Given the description of an element on the screen output the (x, y) to click on. 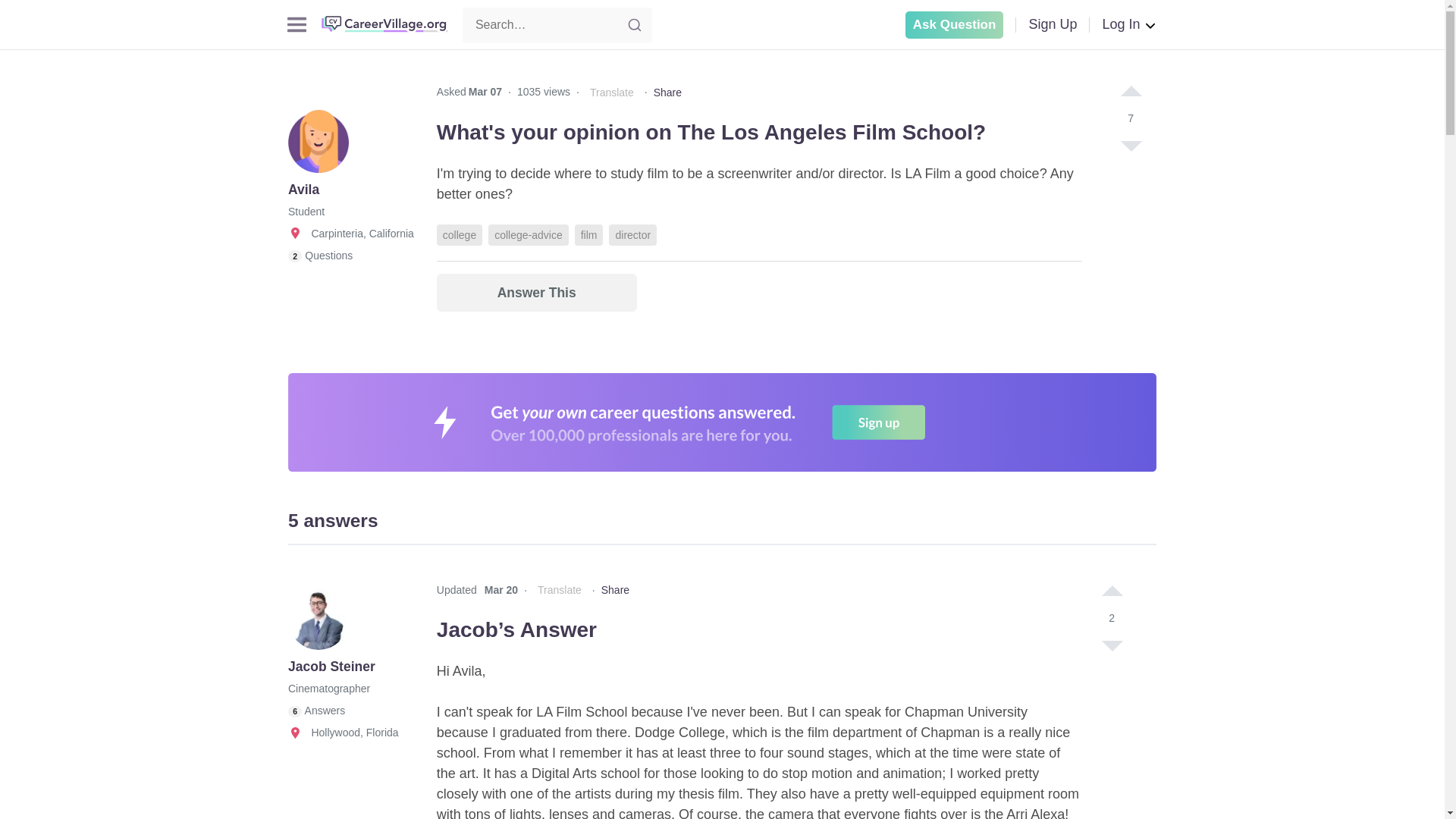
Translate (612, 92)
director (632, 234)
Share (667, 92)
Answer This (536, 292)
college (458, 234)
film (589, 234)
college-advice (528, 234)
